Given the description of an element on the screen output the (x, y) to click on. 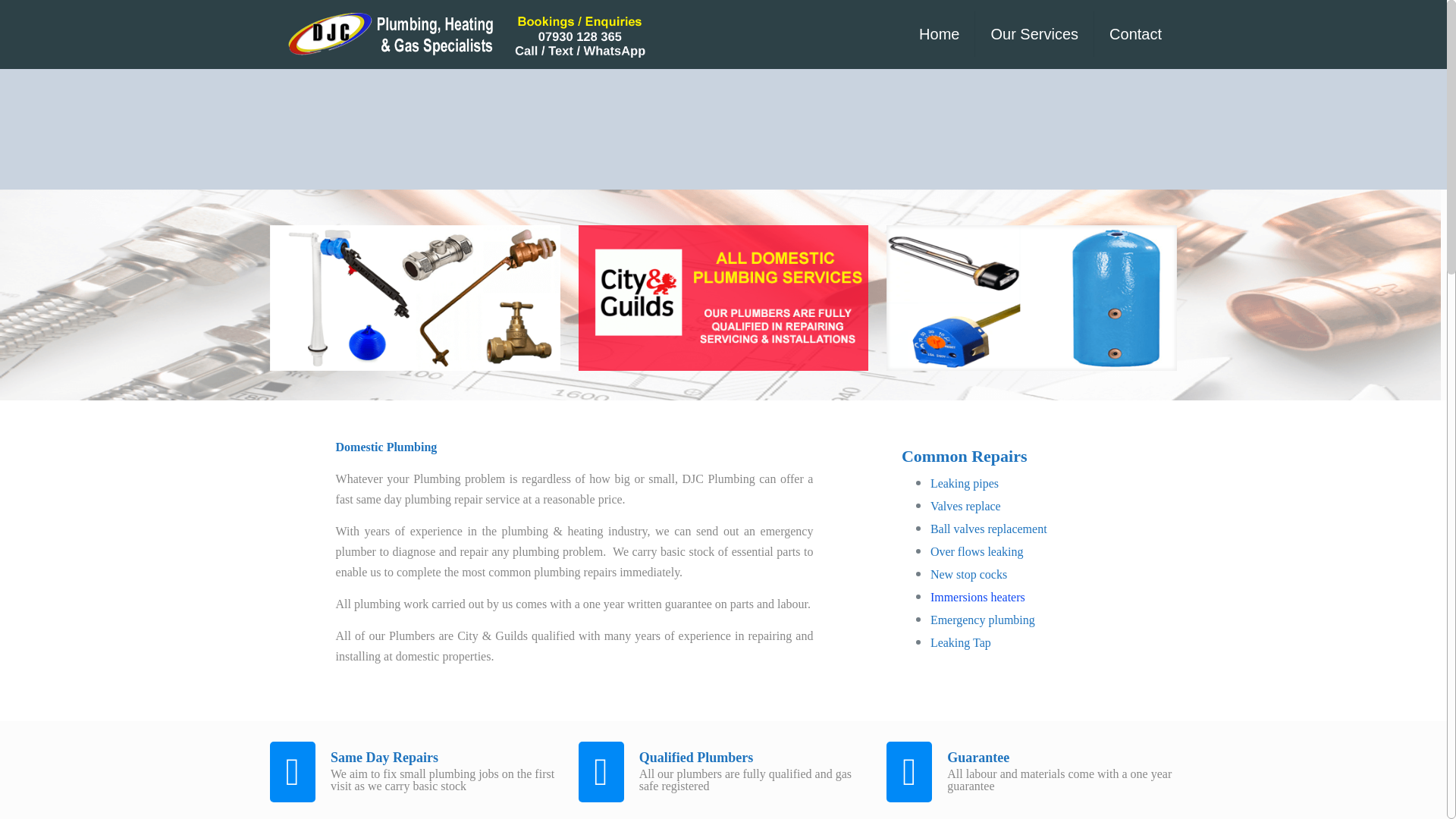
Home (939, 33)
Our Services (1034, 33)
Contact (1135, 33)
